Given the description of an element on the screen output the (x, y) to click on. 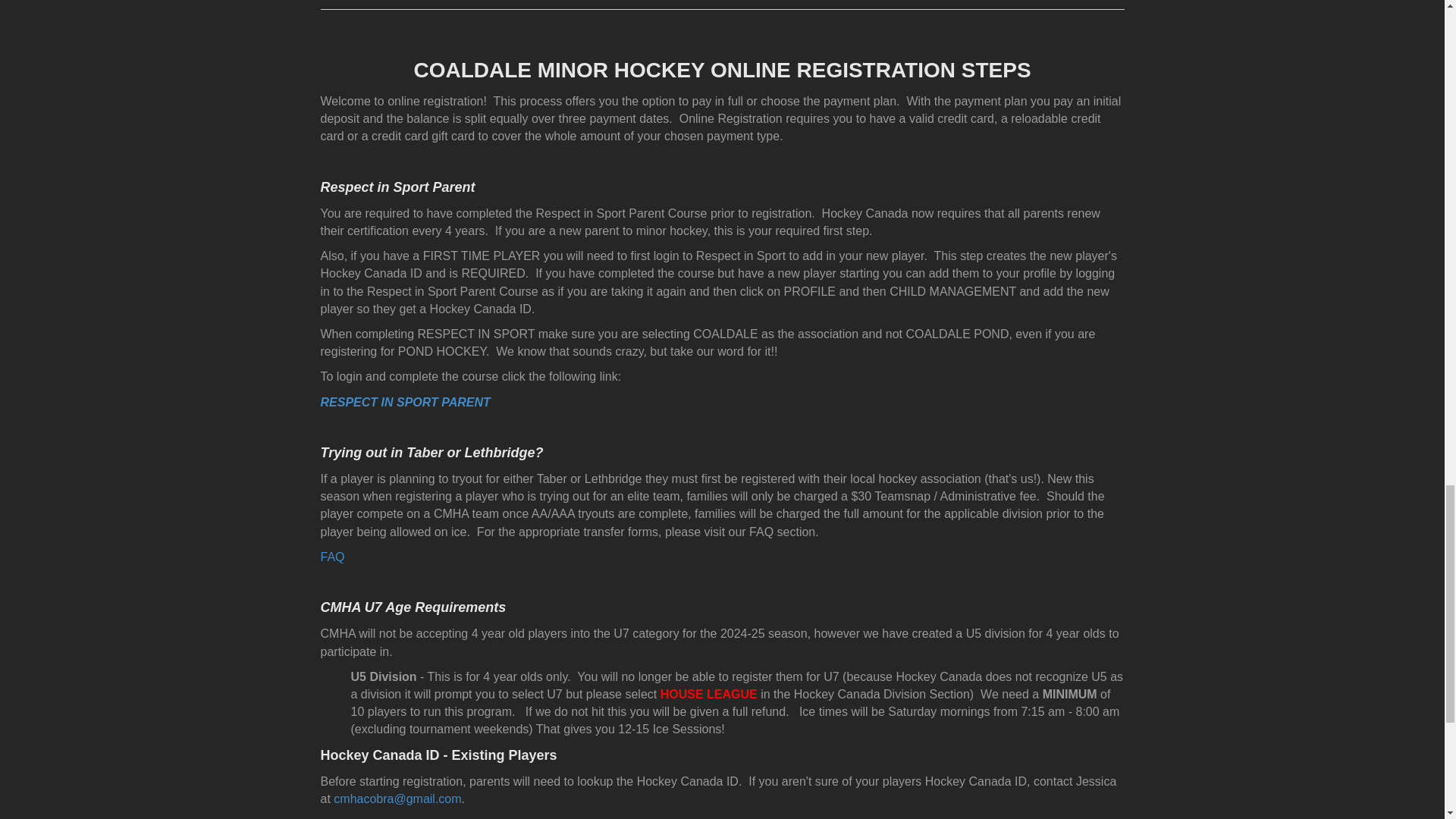
RESPECT IN SPORT PARENT (404, 401)
FAQ (331, 556)
